Given the description of an element on the screen output the (x, y) to click on. 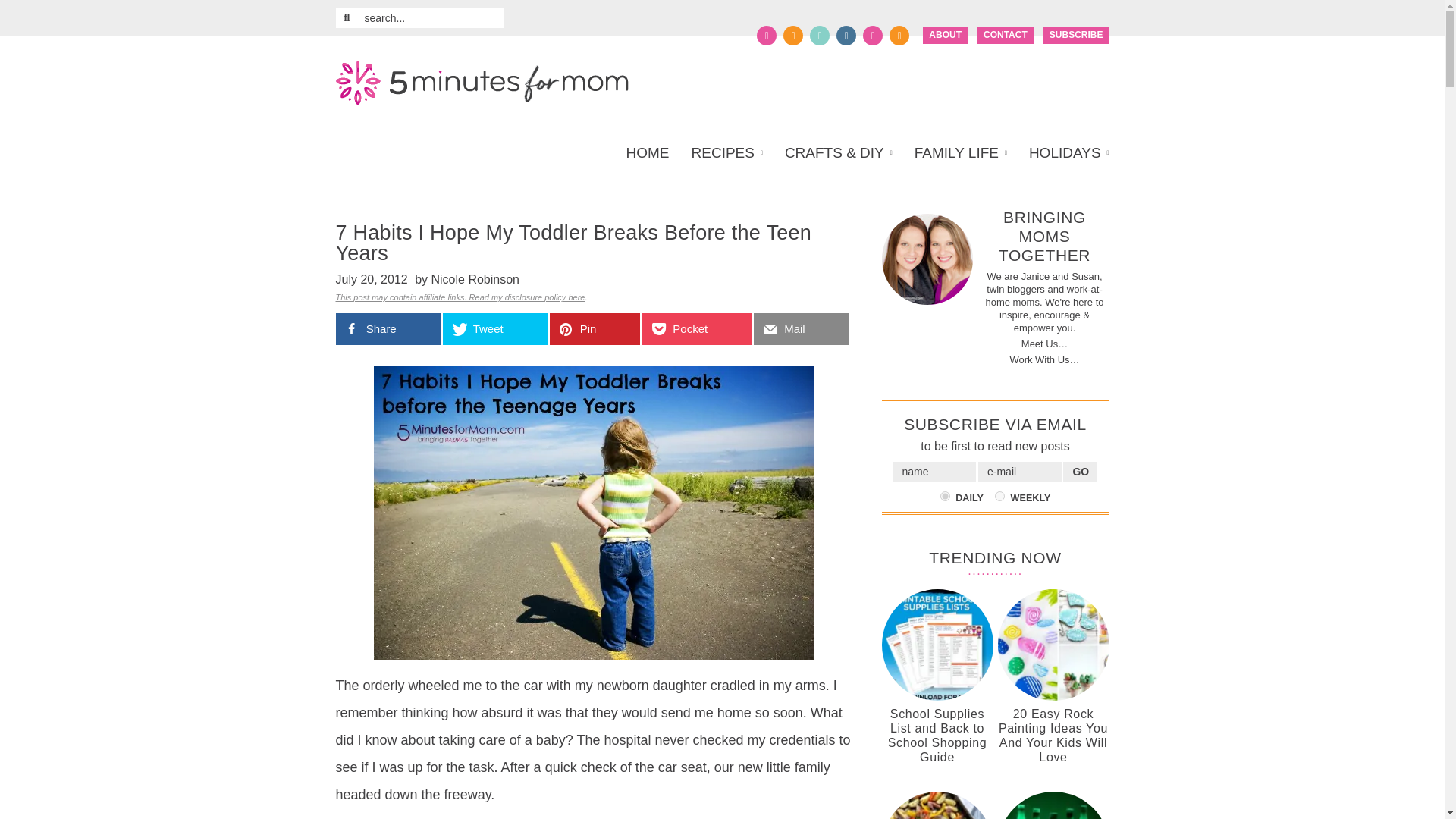
Follow 5 Minutes For Mom on Instagram (845, 35)
Follow 5 Minutes For Mom on Facebook (766, 35)
pinnable toddler years teenage years (592, 513)
Follow 5 Minutes For Mom on YouTube (872, 35)
CONTACT (1004, 35)
5 Minutes for Mom (480, 82)
ABOUT (945, 35)
Follow 5 Minutes For Mom on Pinterest (819, 35)
Follow 5 Minutes For Mom via RSS (898, 35)
RECIPES (726, 153)
Go (1079, 471)
SUBSCRIBE (1076, 35)
HOME (652, 153)
Follow 5 Minutes For Mom on Twitter (793, 35)
Weekly (999, 496)
